Given the description of an element on the screen output the (x, y) to click on. 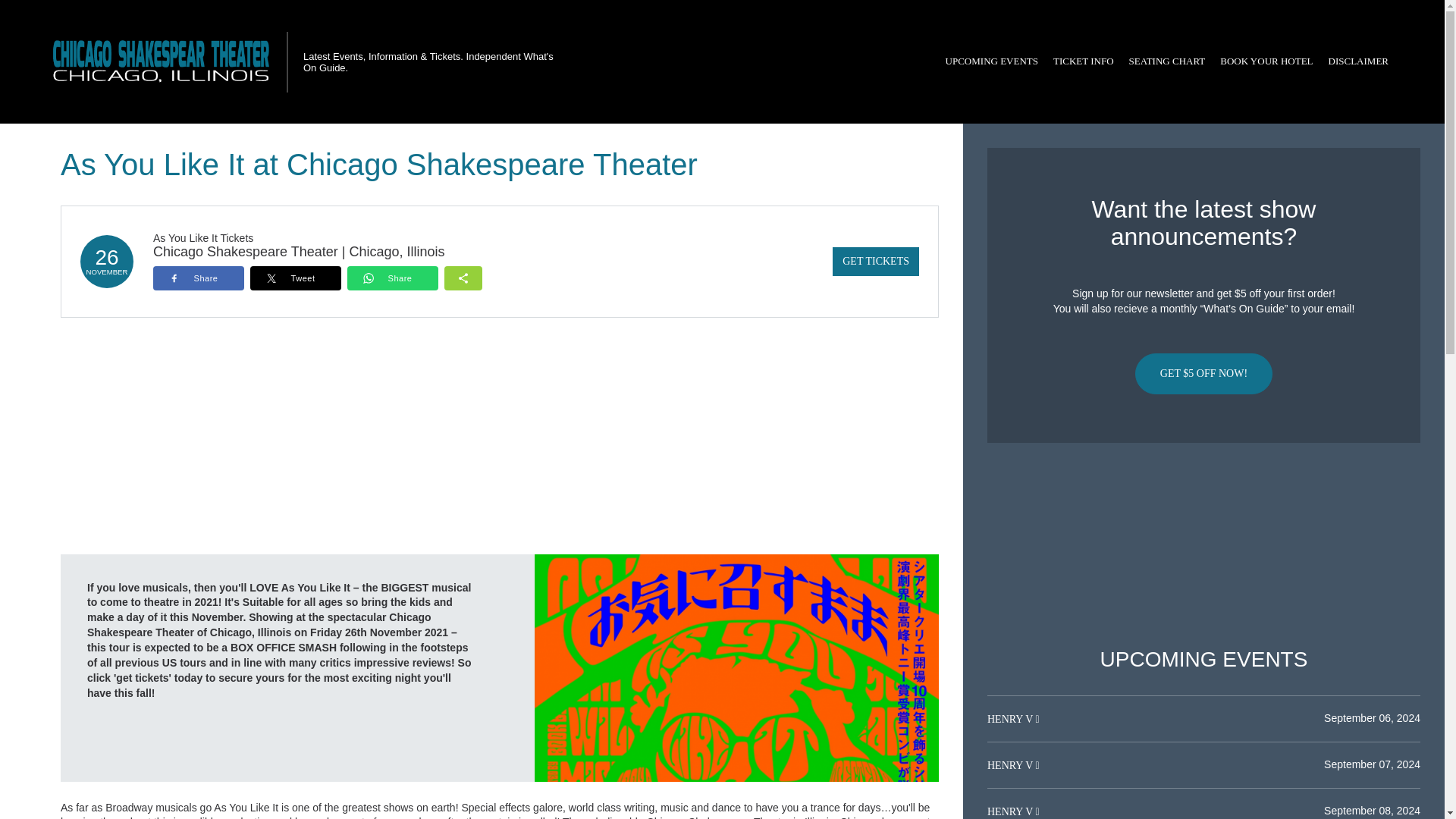
As You Like It at Chicago Shakespeare Theater (736, 667)
BOOK YOUR HOTEL (1266, 61)
GET TICKETS (875, 261)
SEATING CHART (1166, 61)
As You Like It Tickets (202, 237)
UPCOMING EVENTS (991, 61)
DISCLAIMER (1358, 61)
Advertisement (1204, 545)
TICKET INFO (1083, 61)
